Given the description of an element on the screen output the (x, y) to click on. 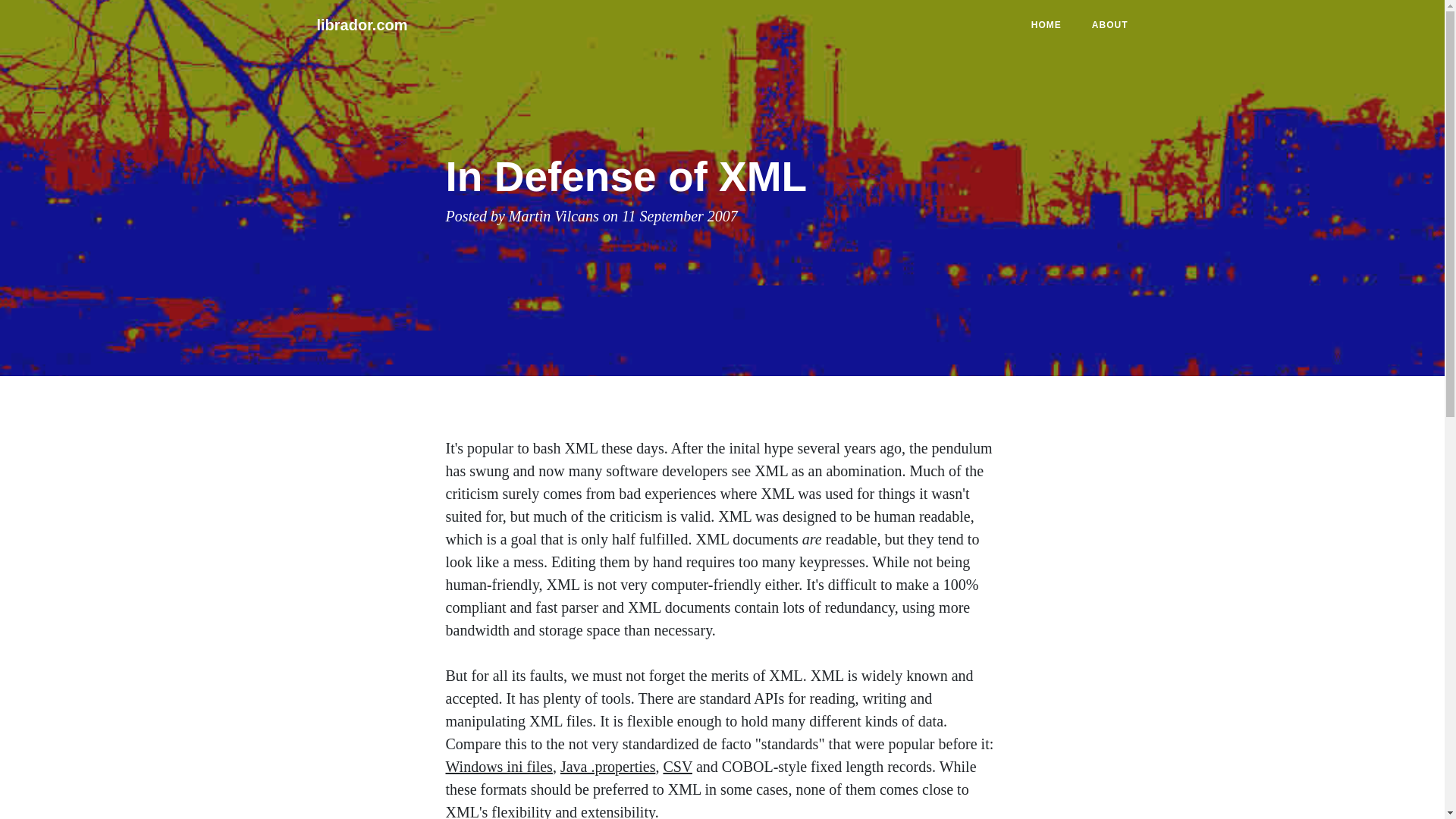
Java .properties (608, 766)
HOME (1046, 24)
ABOUT (1109, 24)
CSV (677, 766)
librador.com (362, 24)
Martin Vilcans (553, 216)
Windows ini files (499, 766)
